Given the description of an element on the screen output the (x, y) to click on. 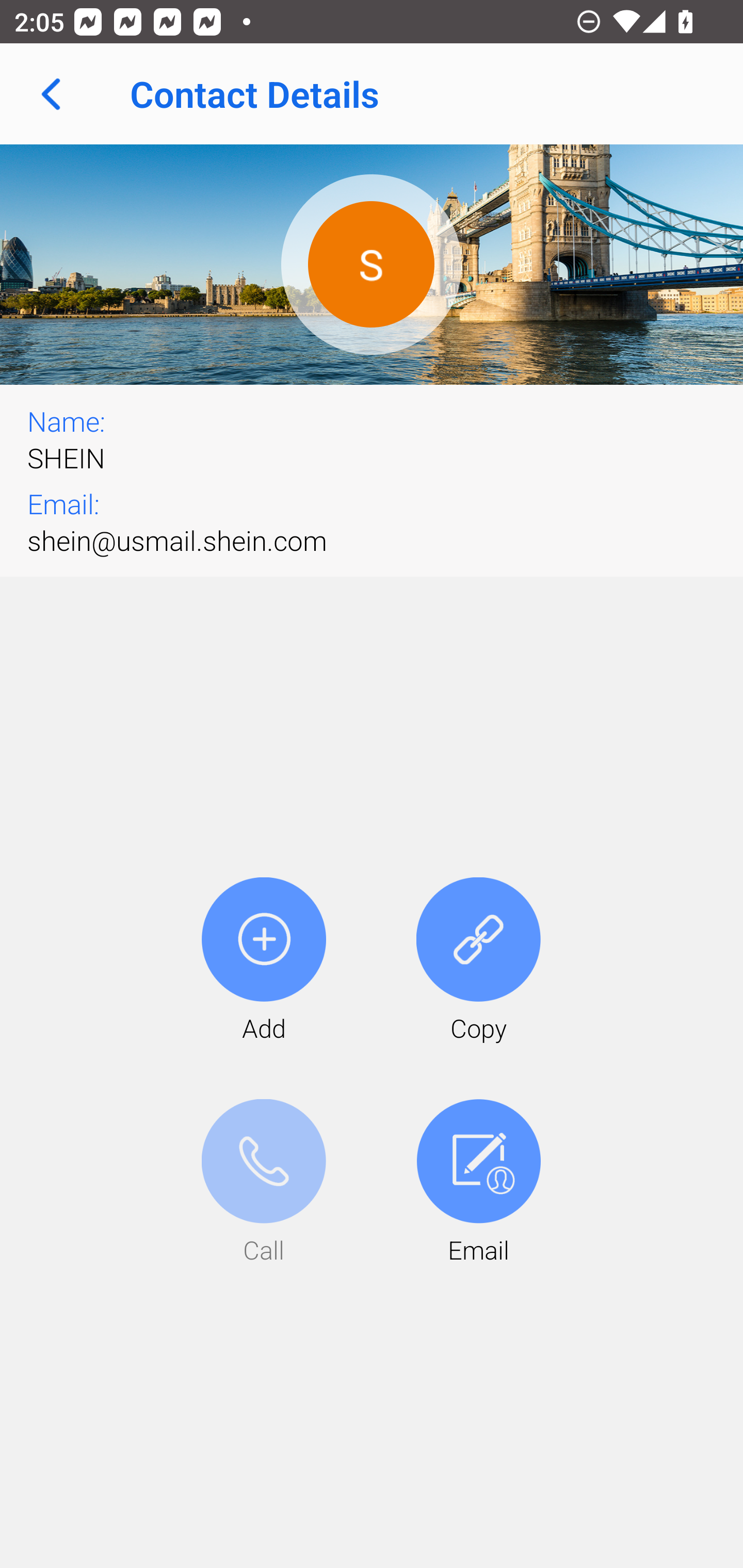
Navigate up (50, 93)
Add (264, 961)
Copy (478, 961)
Call (264, 1182)
Email (478, 1182)
